Given the description of an element on the screen output the (x, y) to click on. 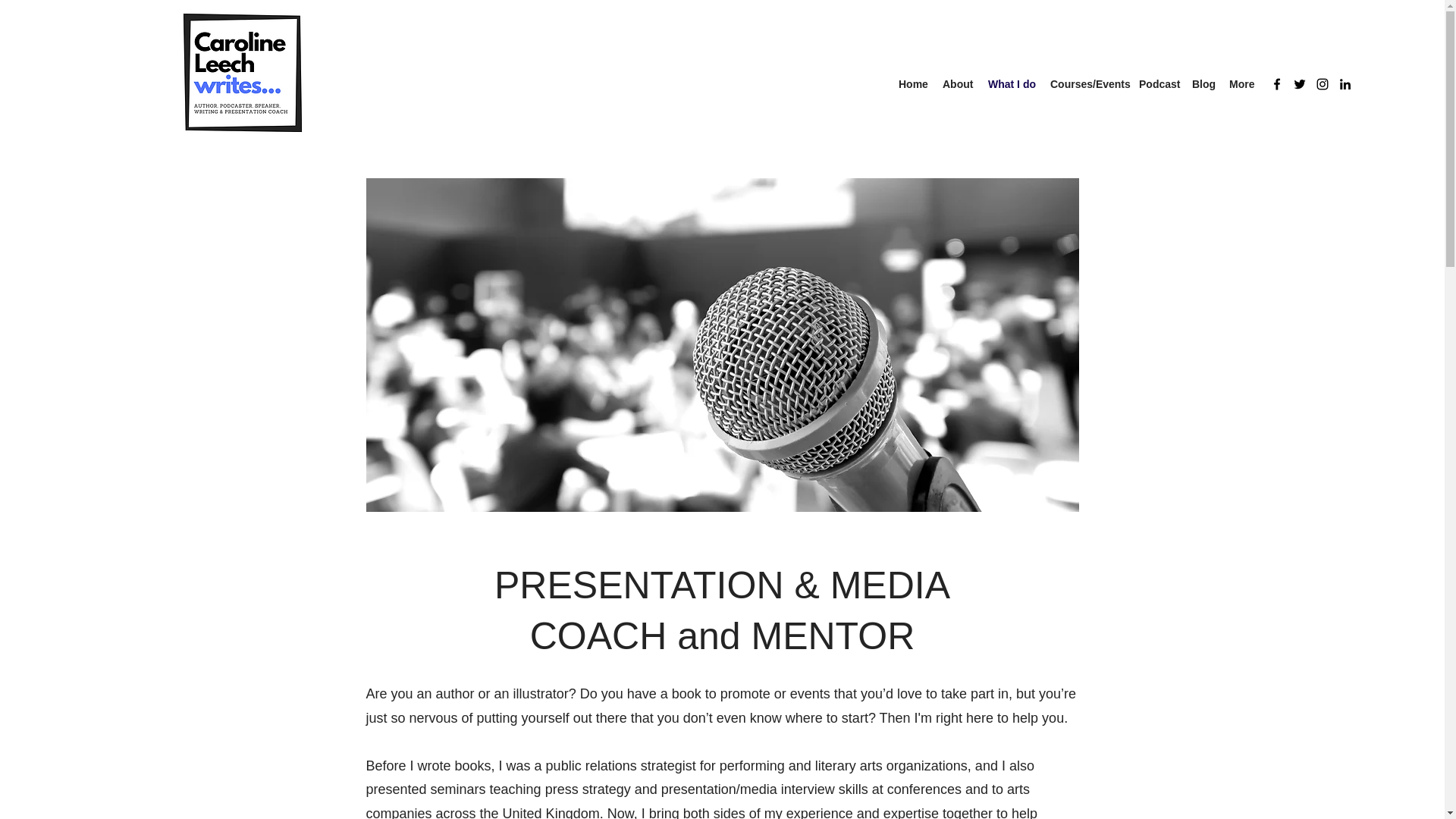
Home (912, 83)
Podcast (1158, 83)
About (956, 83)
What I do (1010, 83)
Blog (1203, 83)
